Given the description of an element on the screen output the (x, y) to click on. 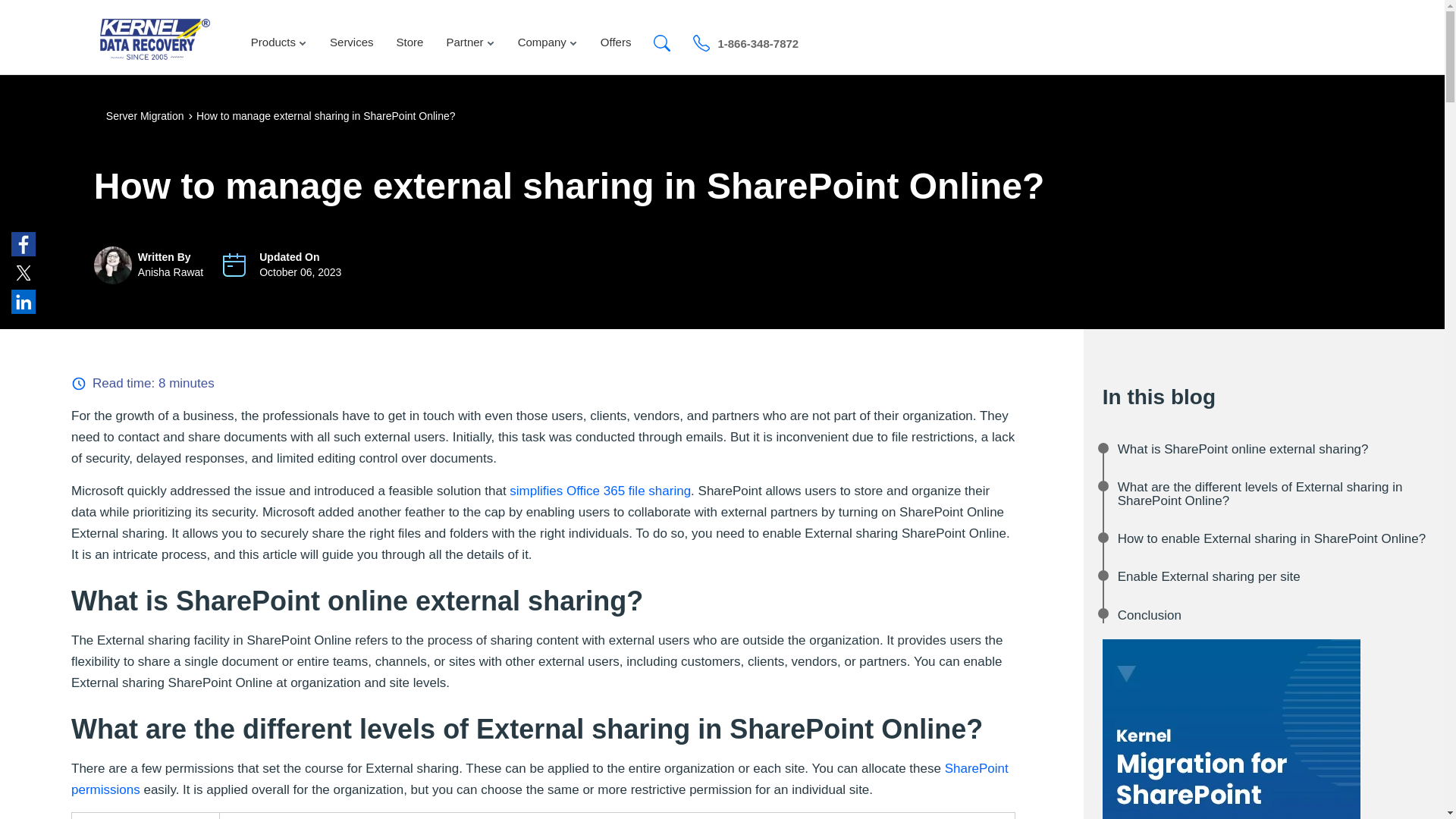
Products (279, 36)
